Given the description of an element on the screen output the (x, y) to click on. 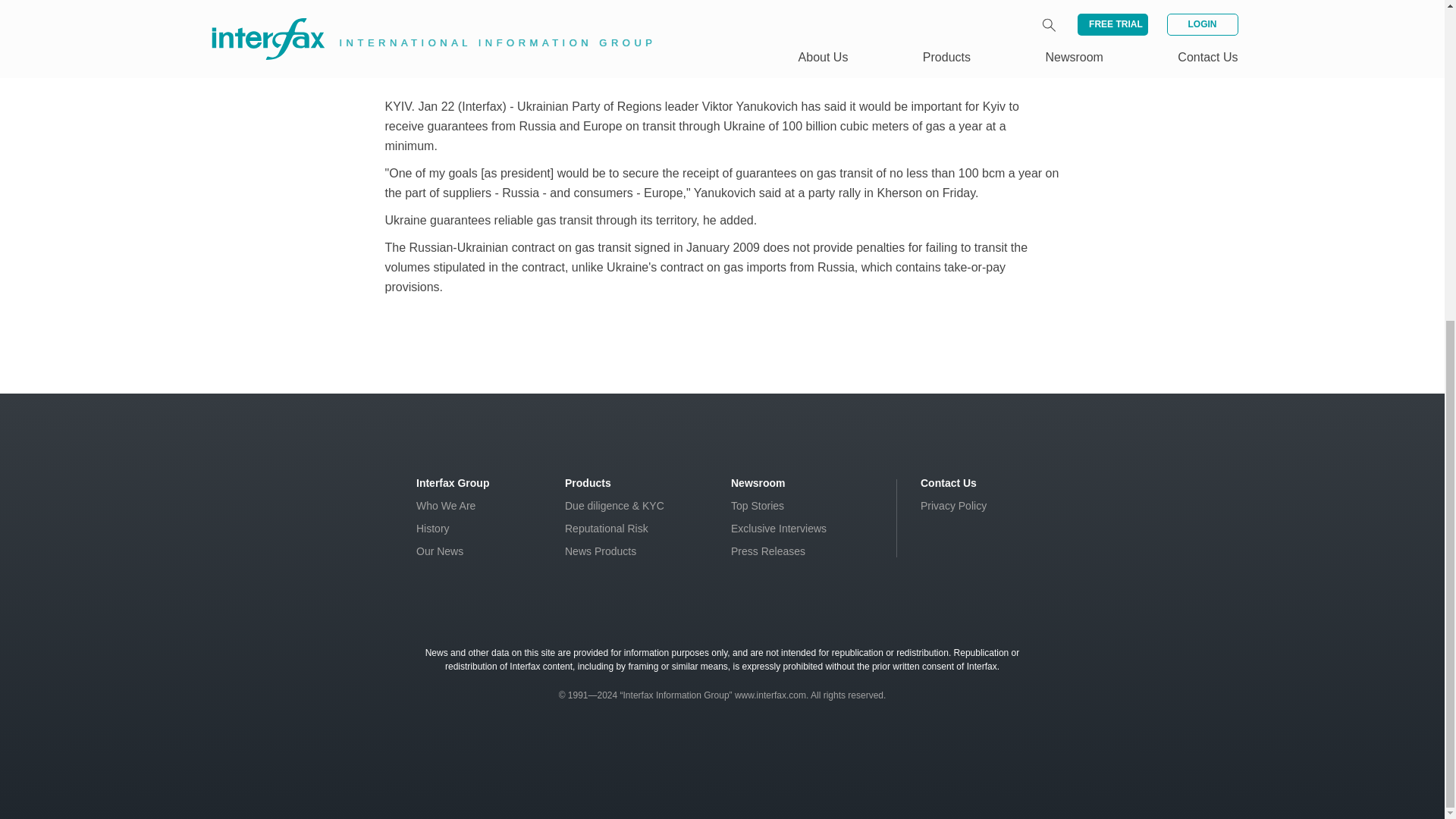
Our News (439, 551)
Interfax Group (452, 482)
History (432, 528)
Who We Are (446, 505)
